Given the description of an element on the screen output the (x, y) to click on. 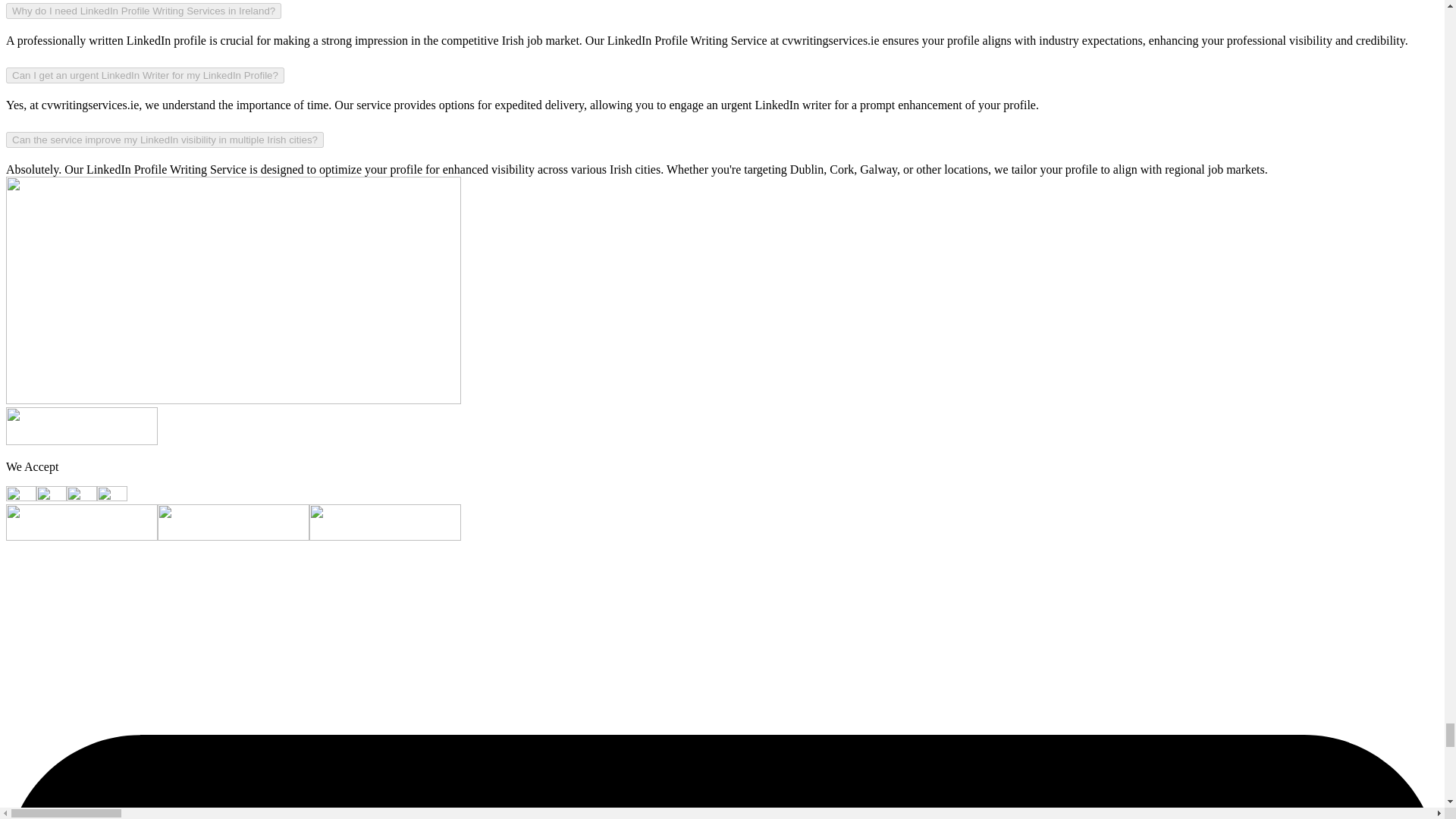
Can I get an urgent LinkedIn Writer for my LinkedIn Profile? (144, 75)
Why do I need LinkedIn Profile Writing Services in Ireland? (143, 10)
